Given the description of an element on the screen output the (x, y) to click on. 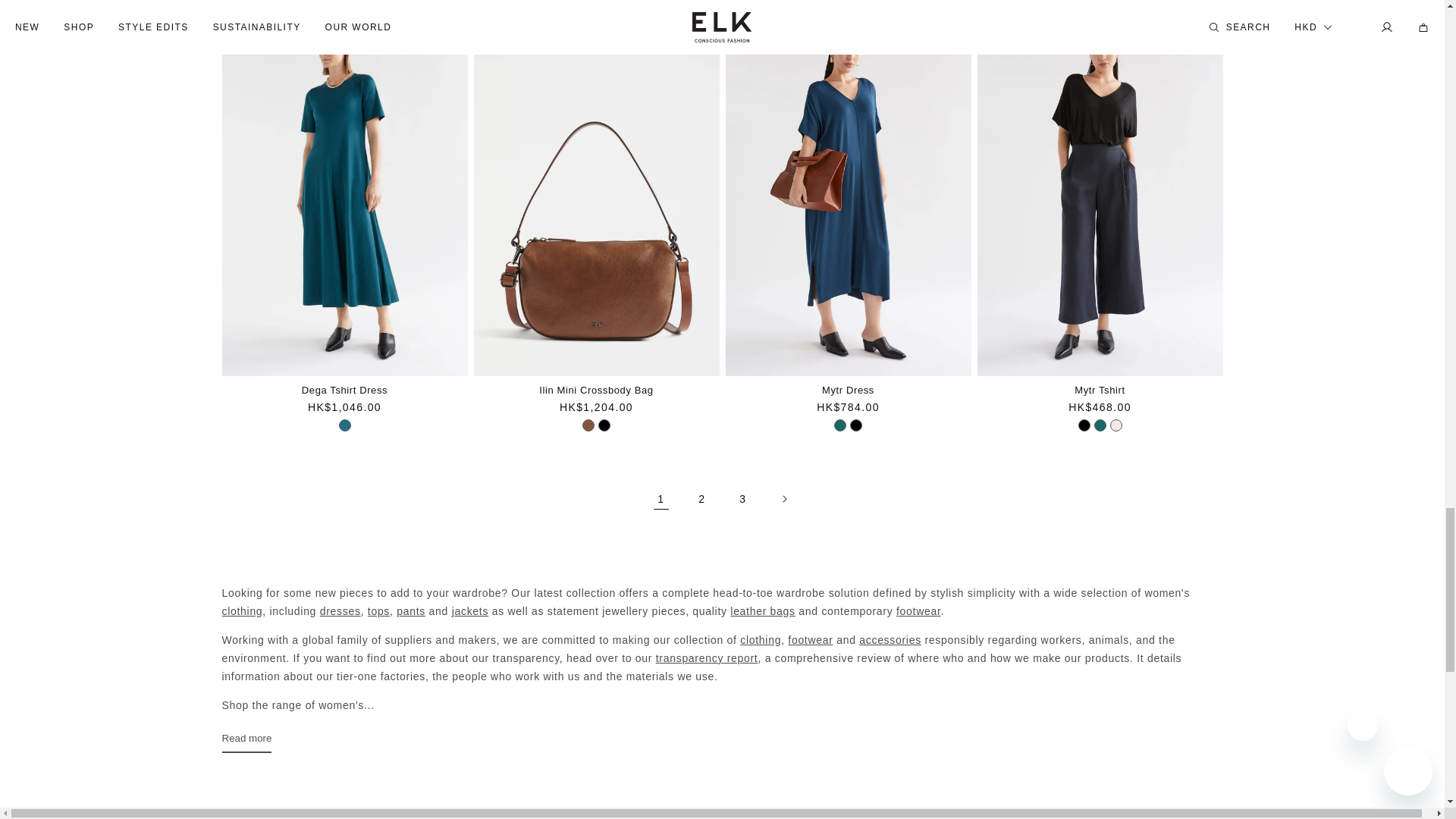
Women's Clothing (241, 611)
Women' Shoes (918, 611)
Women's Dresses (340, 611)
Women's Footwear (809, 639)
Women's Accessories (890, 639)
Women's Leather Bags (763, 611)
ELK Transparency Report (708, 657)
Women's Clothing (759, 639)
